Given the description of an element on the screen output the (x, y) to click on. 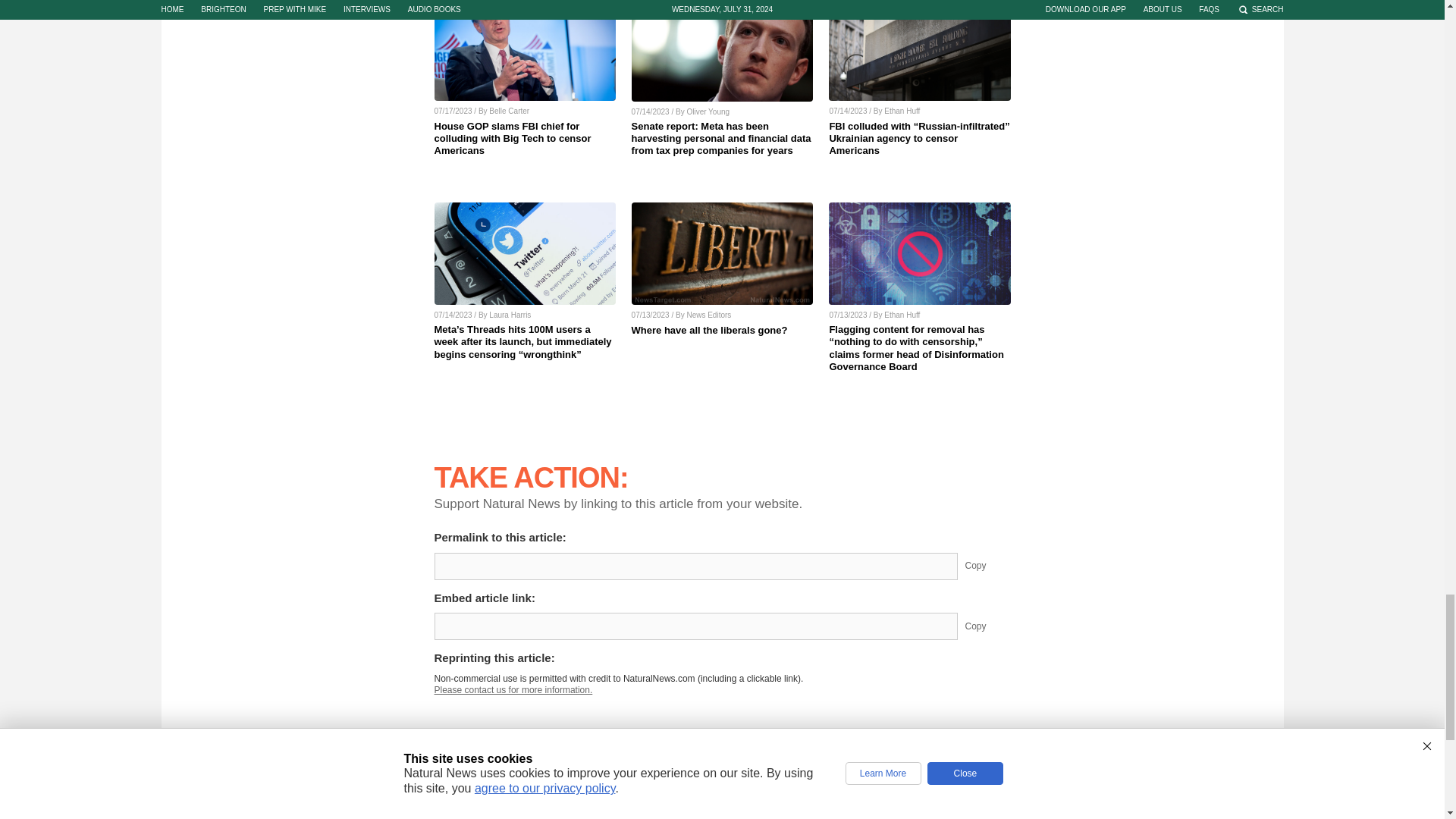
Copy Permalink (986, 565)
Copy Embed Link (986, 625)
